Given the description of an element on the screen output the (x, y) to click on. 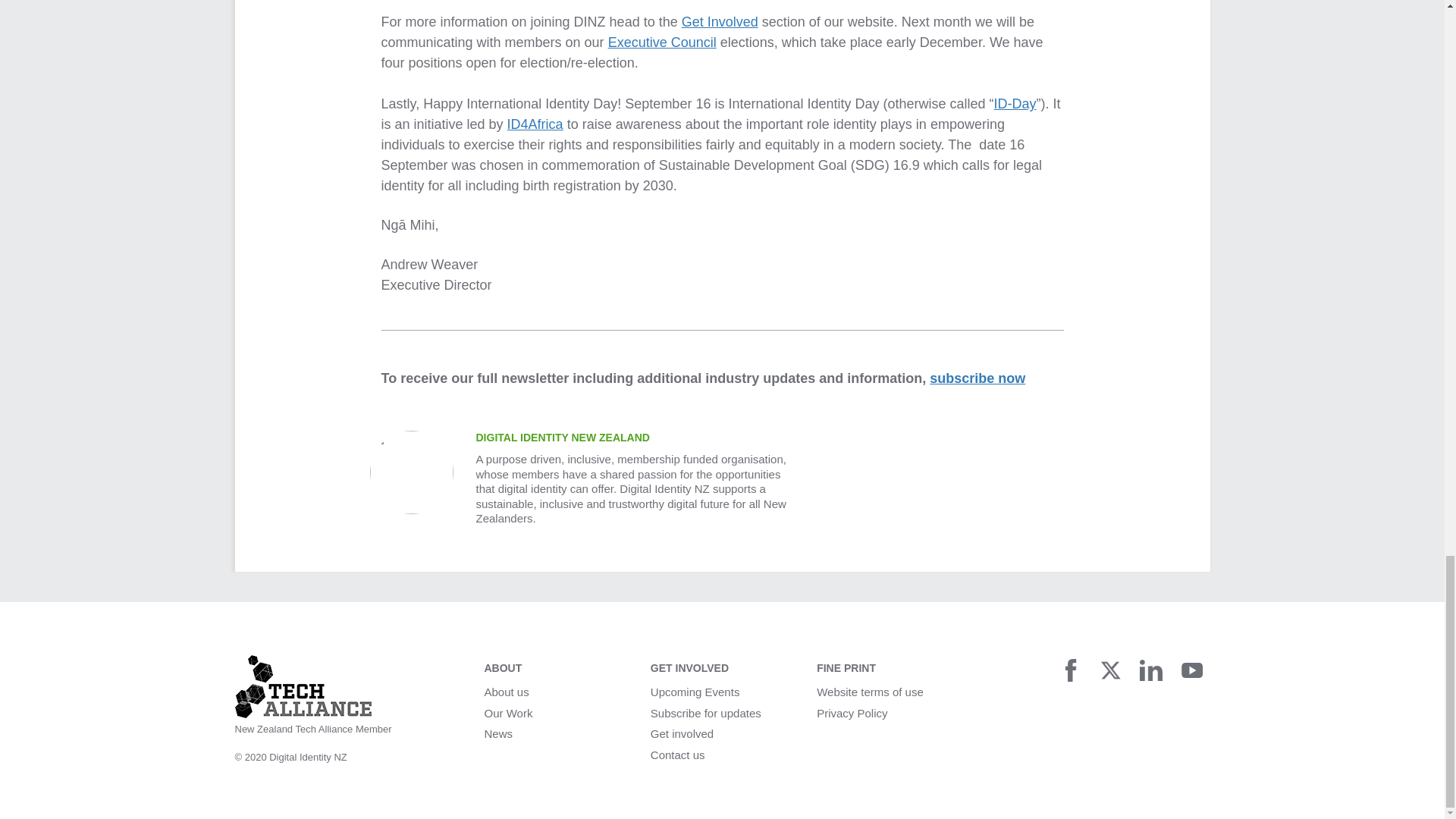
Get Involved (719, 21)
ID4Africa (534, 124)
Executive Council (662, 42)
ID-Day (1015, 103)
